Given the description of an element on the screen output the (x, y) to click on. 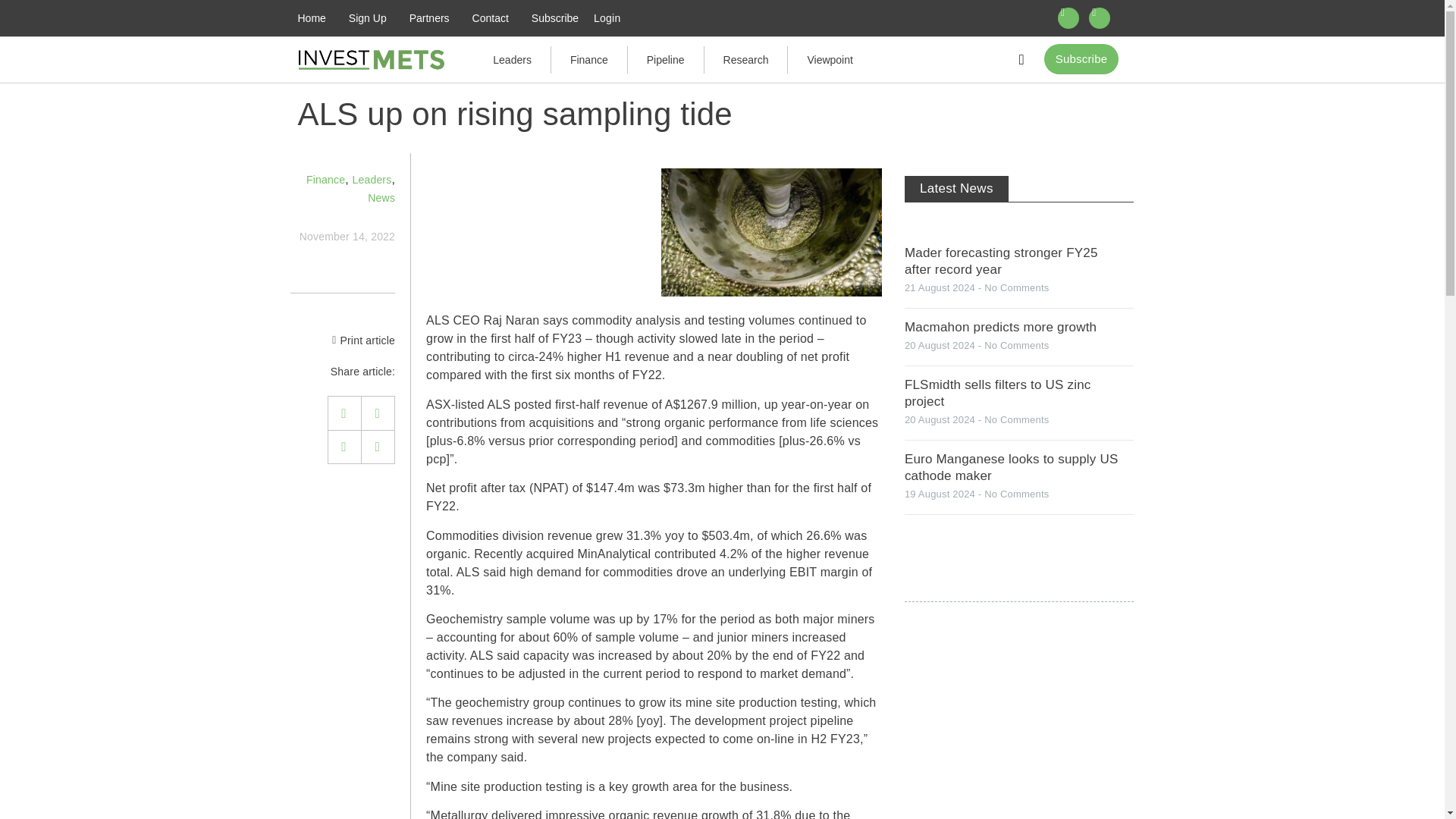
Subscribe (1081, 59)
Research (745, 59)
View all posts in Leaders (371, 179)
View all posts in Finance (325, 179)
Leaders (371, 179)
Finance (325, 179)
News (381, 197)
Contact (490, 17)
Print article (366, 340)
Mader forecasting stronger FY25 after record year (1000, 260)
